Given the description of an element on the screen output the (x, y) to click on. 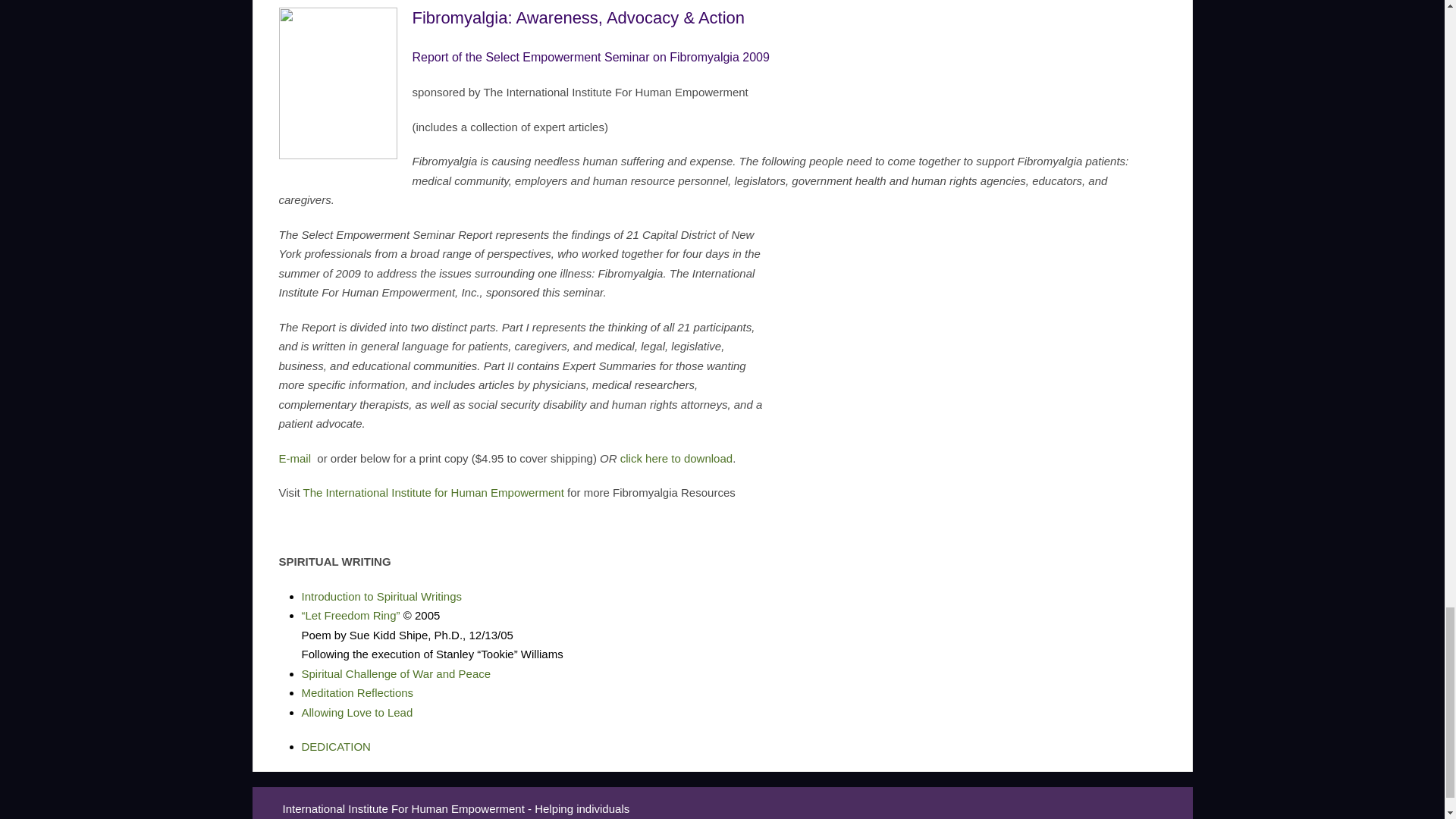
DEDICATION (336, 746)
The International Institute for Human Empowerment (432, 492)
E-mail (295, 458)
click here to download (676, 458)
Spiritual Challenge of War and Peace (396, 673)
Allowing Love to Lead (357, 712)
Allowing Love to Lead (357, 712)
Meditation Reflections (357, 692)
Spiritual Challenge of War and Peace (396, 673)
Introduction to Spiritual Writings (382, 595)
Let Freedom Ring (350, 615)
Meditation Reflections (357, 692)
DEDICATION (336, 746)
